Given the description of an element on the screen output the (x, y) to click on. 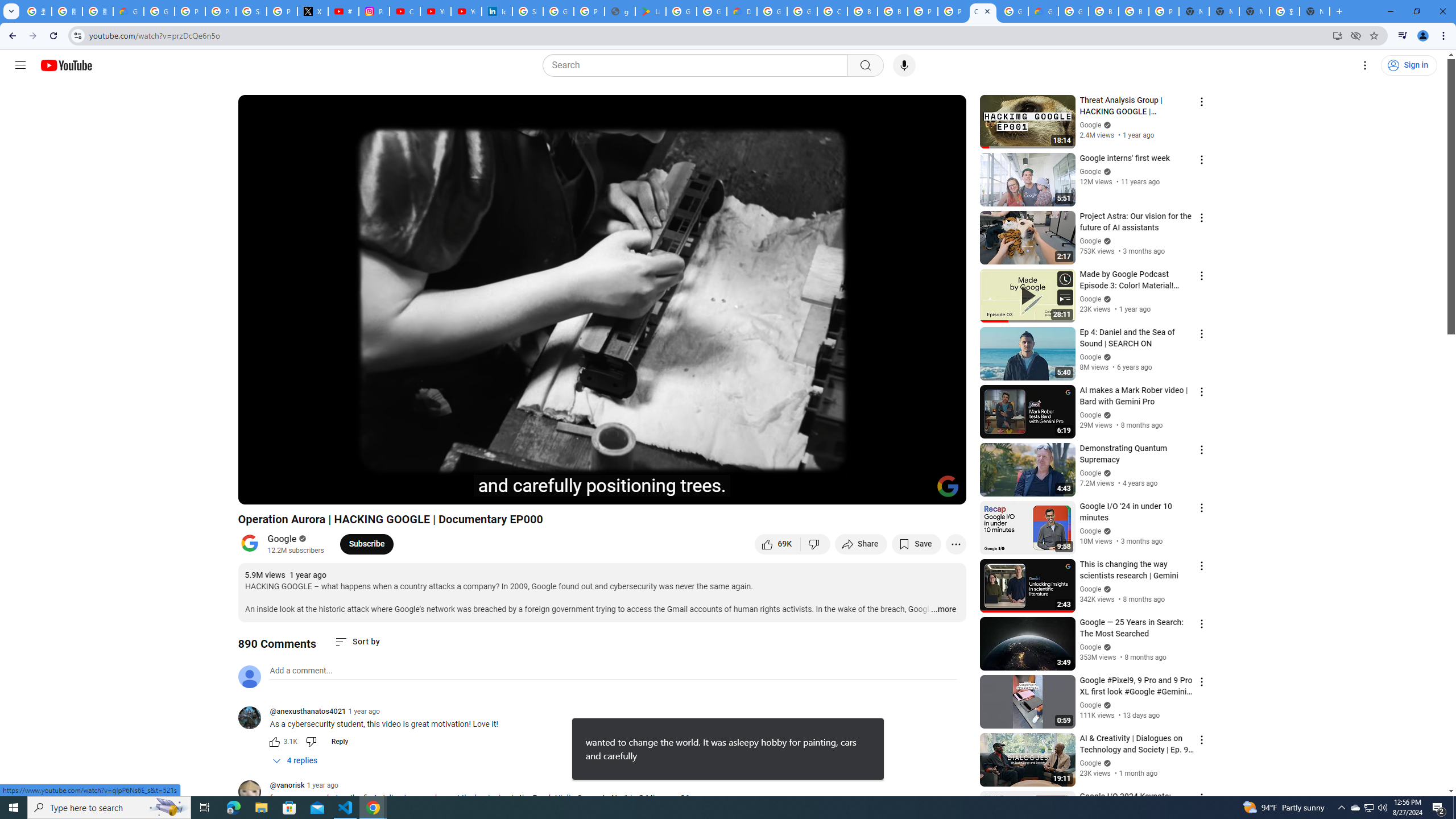
Google Cloud Privacy Notice (127, 11)
Like this comment along with 3.1K other people (273, 741)
Sign in - Google Accounts (527, 11)
Search with your voice (903, 65)
X (312, 11)
@anexusthanatos4021 (307, 711)
Google Cloud Platform (1012, 11)
@vanorisk (253, 792)
New Tab (1193, 11)
Mute (m) (312, 490)
Sort comments (357, 641)
